Given the description of an element on the screen output the (x, y) to click on. 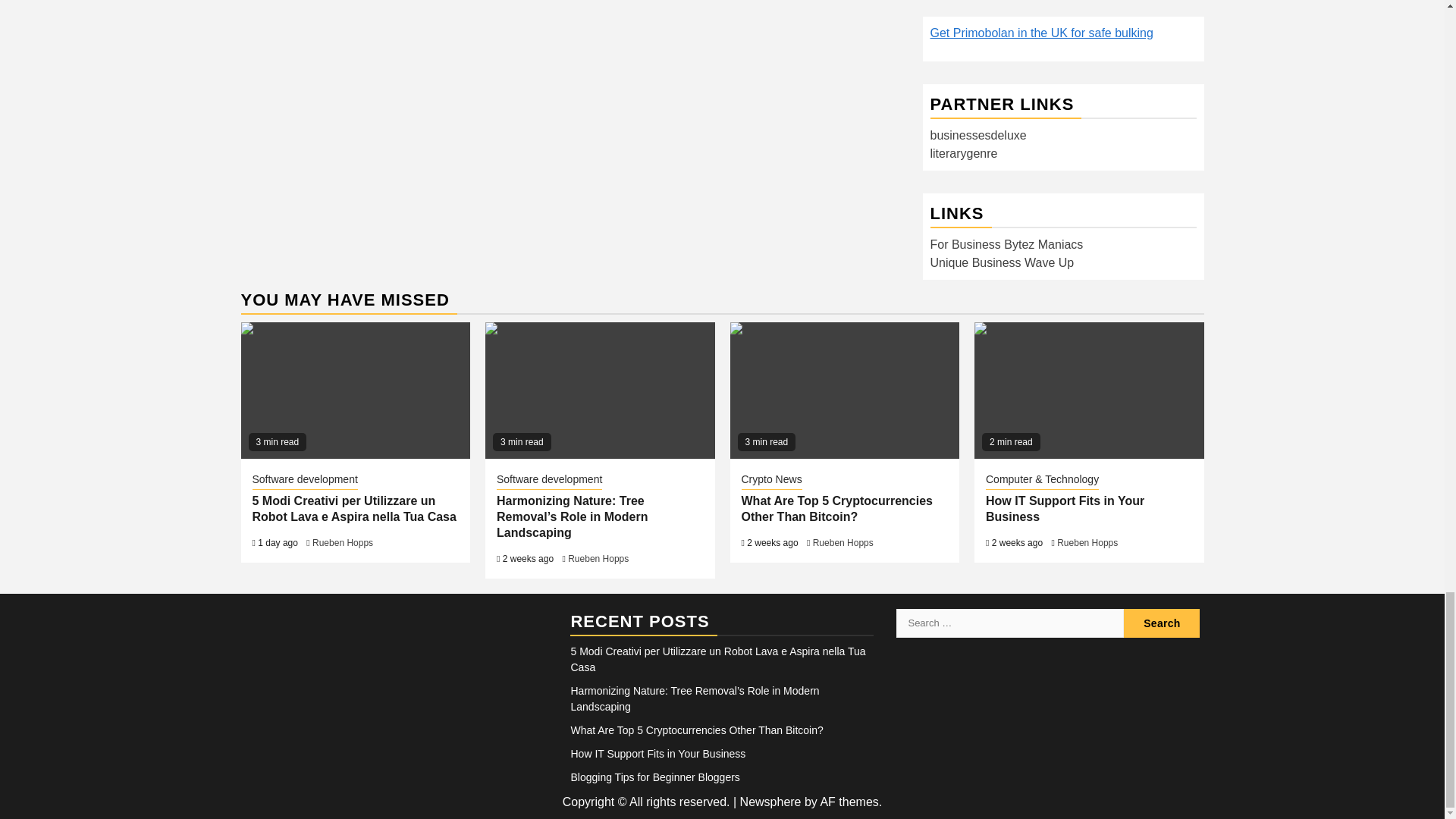
Search (1161, 623)
Search (1161, 623)
How IT Support Fits in Your Business (1089, 390)
What Are Top 5 Cryptocurrencies Other Than Bitcoin? (844, 390)
